Given the description of an element on the screen output the (x, y) to click on. 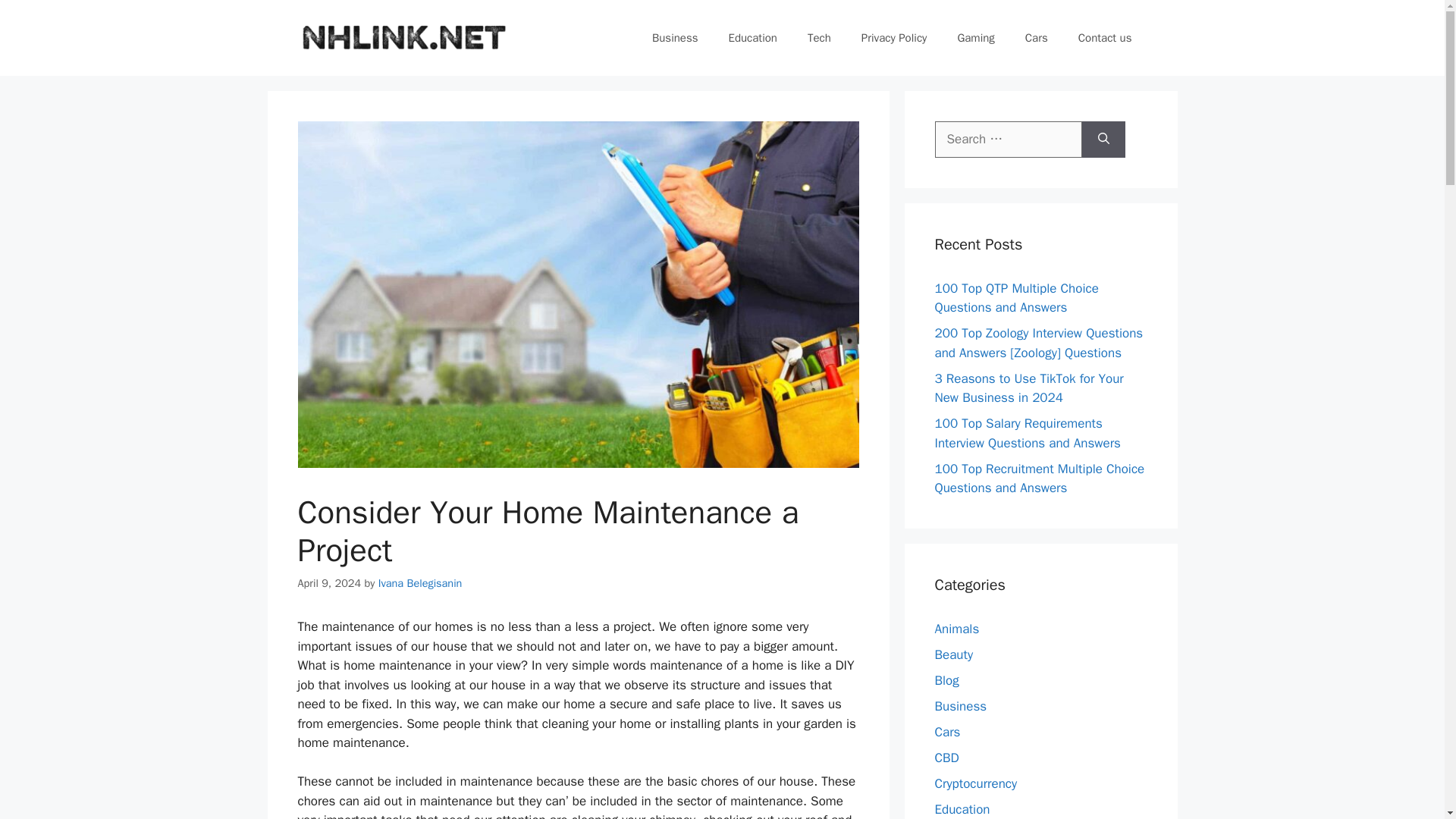
Ivana Belegisanin (420, 582)
Privacy Policy (893, 37)
Search for: (1007, 139)
Animals (956, 627)
Contact us (1104, 37)
3 Reasons to Use TikTok for Your New Business in 2024 (1028, 387)
Tech (818, 37)
Blog (946, 679)
View all posts by Ivana Belegisanin (420, 582)
Beauty (953, 653)
100 Top QTP Multiple Choice Questions and Answers (1015, 298)
Business (675, 37)
Education (752, 37)
100 Top Salary Requirements Interview Questions and Answers (1026, 433)
Cars (1036, 37)
